Given the description of an element on the screen output the (x, y) to click on. 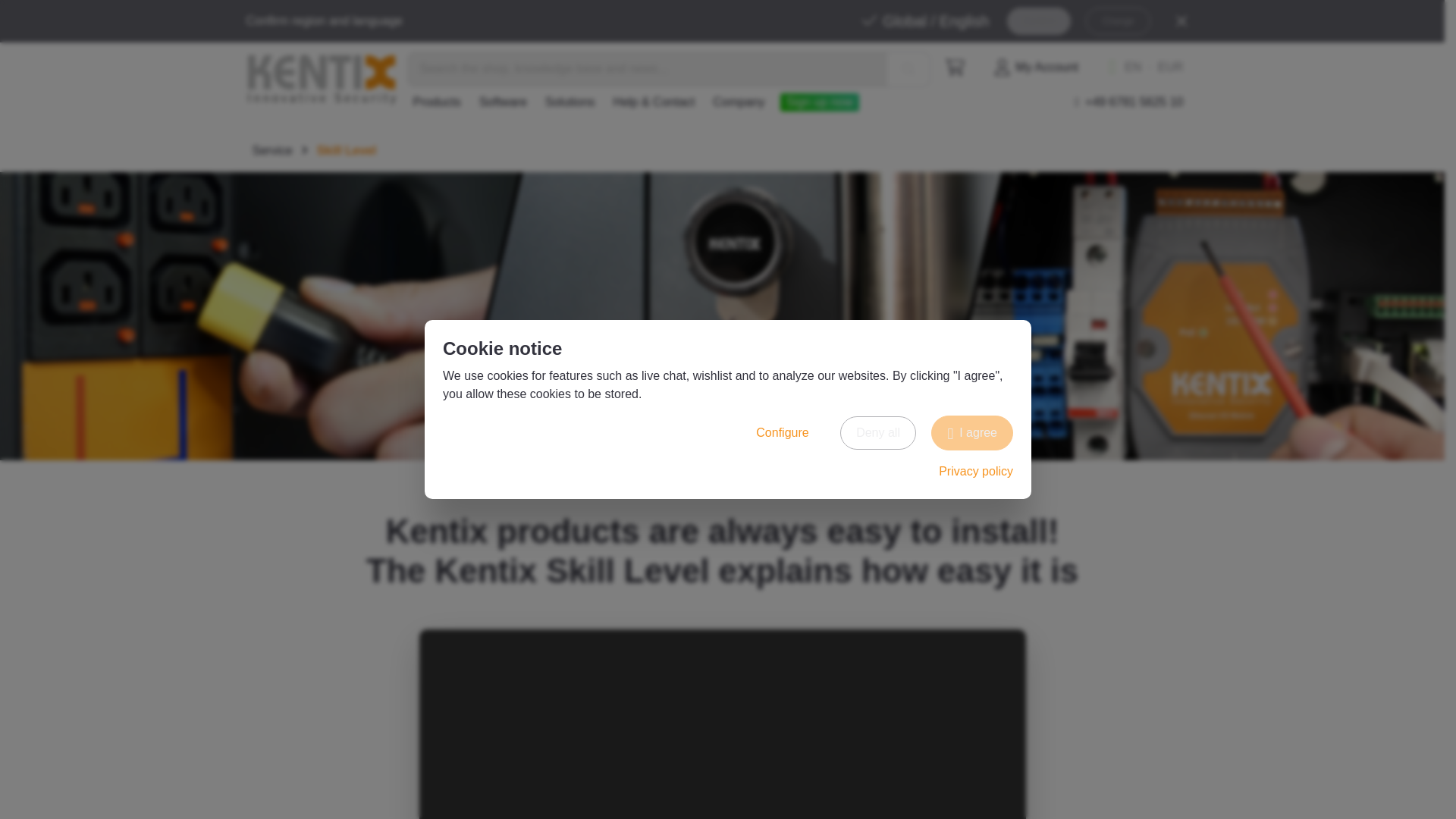
Skill Level (346, 150)
Sign up now (819, 101)
Shopping cart (954, 67)
Solutions (569, 101)
Confirm (1038, 21)
My Account (1036, 67)
My Account (1036, 67)
Change (1118, 21)
Software (502, 101)
Products (435, 101)
Company (738, 101)
Go to homepage (321, 79)
